Given the description of an element on the screen output the (x, y) to click on. 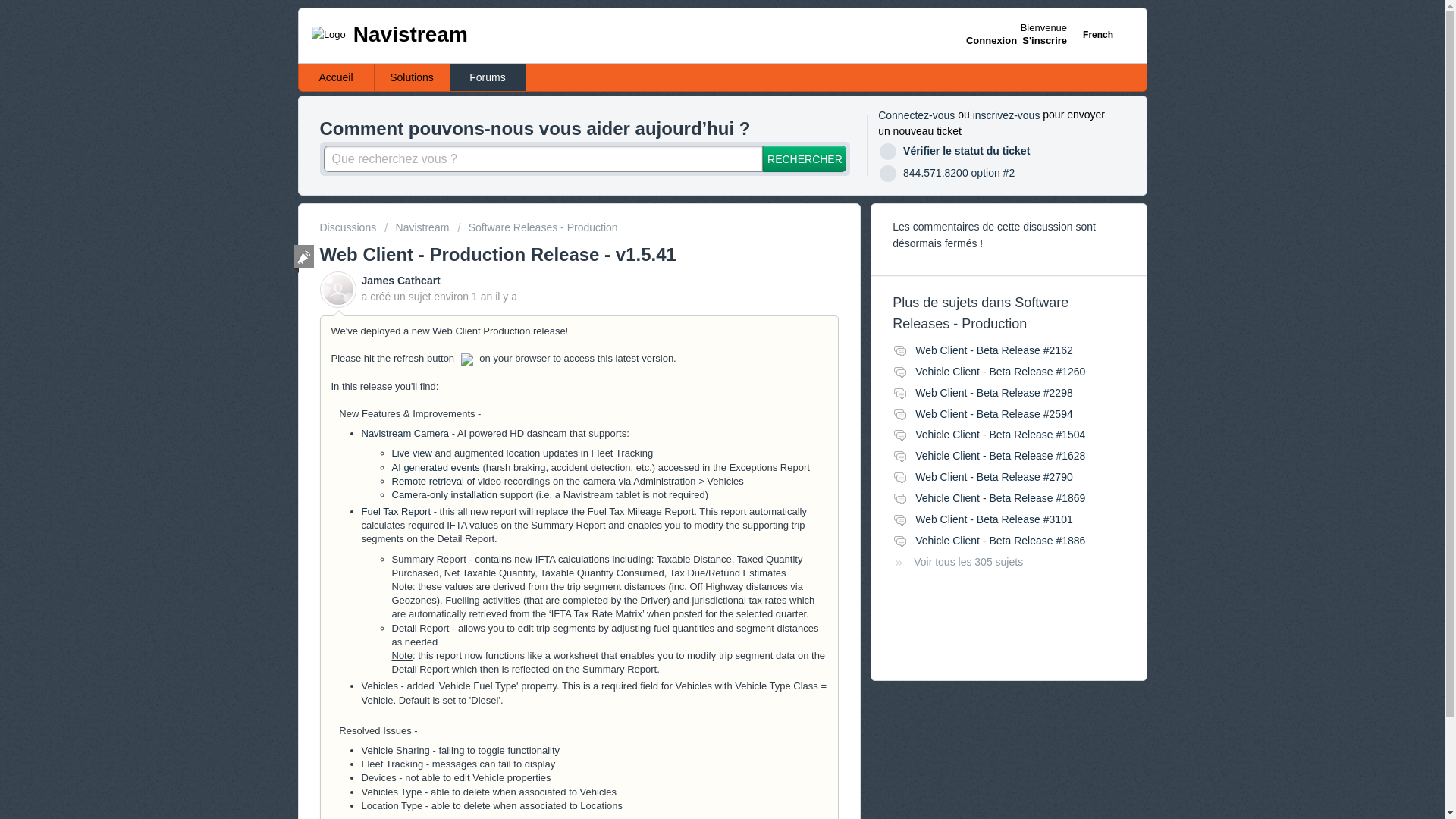
Live view (410, 452)
Navistream Camera (404, 432)
inscrivez-vous (1006, 115)
Remote retrieval (427, 480)
Navistream (416, 227)
Connectez-vous (916, 115)
Camera-only installation (443, 494)
Software Releases - Production (537, 227)
Voir tous les 305 sujets (957, 562)
Fuel Tax Report (395, 511)
